Given the description of an element on the screen output the (x, y) to click on. 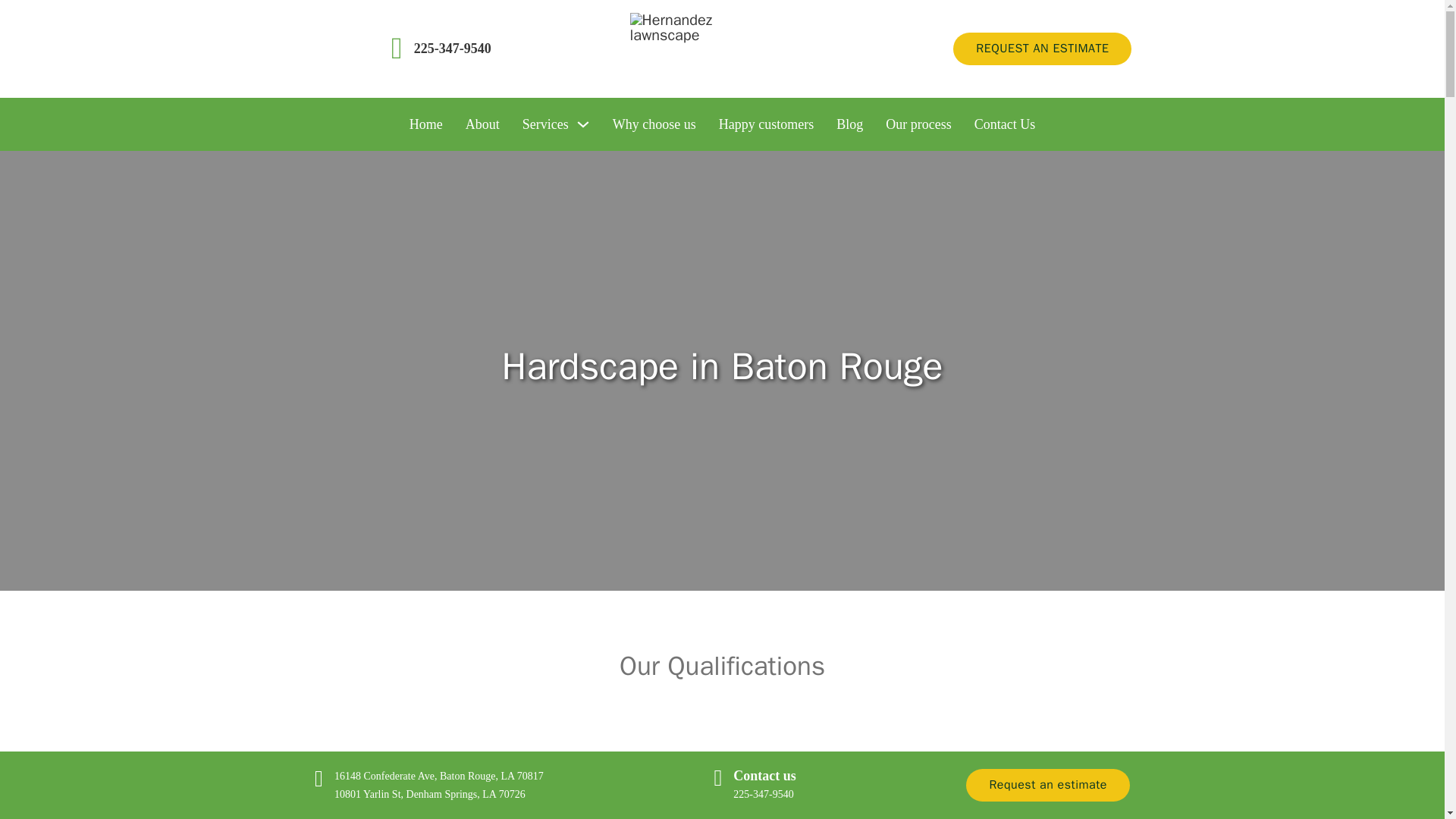
Why choose us (653, 124)
Our process (917, 124)
225-347-9540 (452, 48)
Services (545, 124)
Blog (849, 124)
REQUEST AN ESTIMATE (1042, 48)
Home (425, 124)
About (482, 124)
Happy customers (766, 124)
Contact Us (1004, 124)
